Given the description of an element on the screen output the (x, y) to click on. 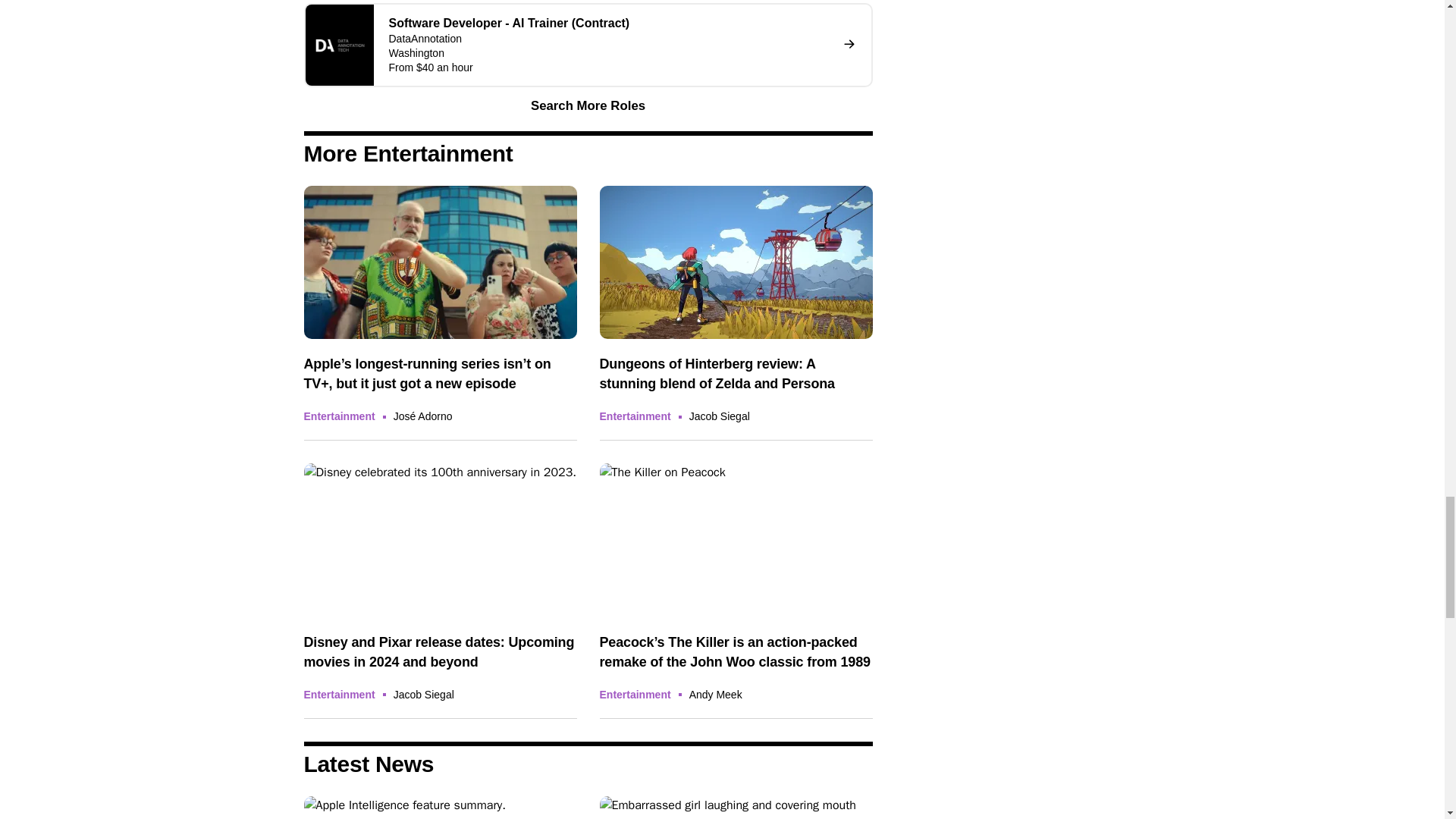
Disney Pixar (439, 540)
Posts by Andy Meek (715, 694)
why we blush (735, 807)
Posts by Jacob Siegal (718, 416)
Posts by Jacob Siegal (423, 694)
Dungeons of Hinterberg (735, 262)
the killer (735, 540)
